Given the description of an element on the screen output the (x, y) to click on. 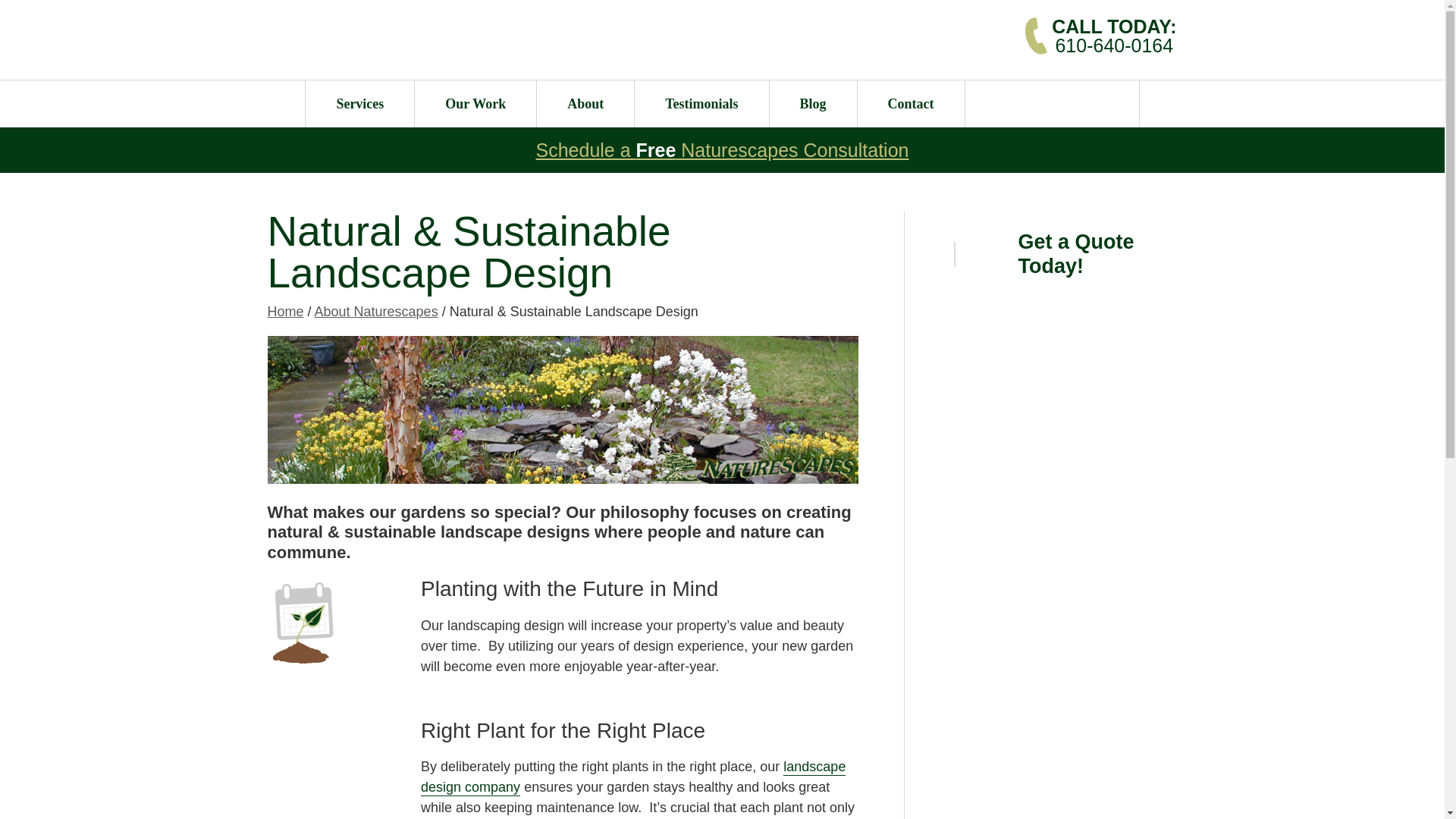
Blog (813, 103)
Schedule a Free Naturescapes Consultation (721, 149)
About Naturescapes (376, 311)
Home (284, 311)
Testimonials (701, 103)
Services (359, 103)
Our Work (474, 103)
About (1113, 35)
landscape design company (585, 103)
